Given the description of an element on the screen output the (x, y) to click on. 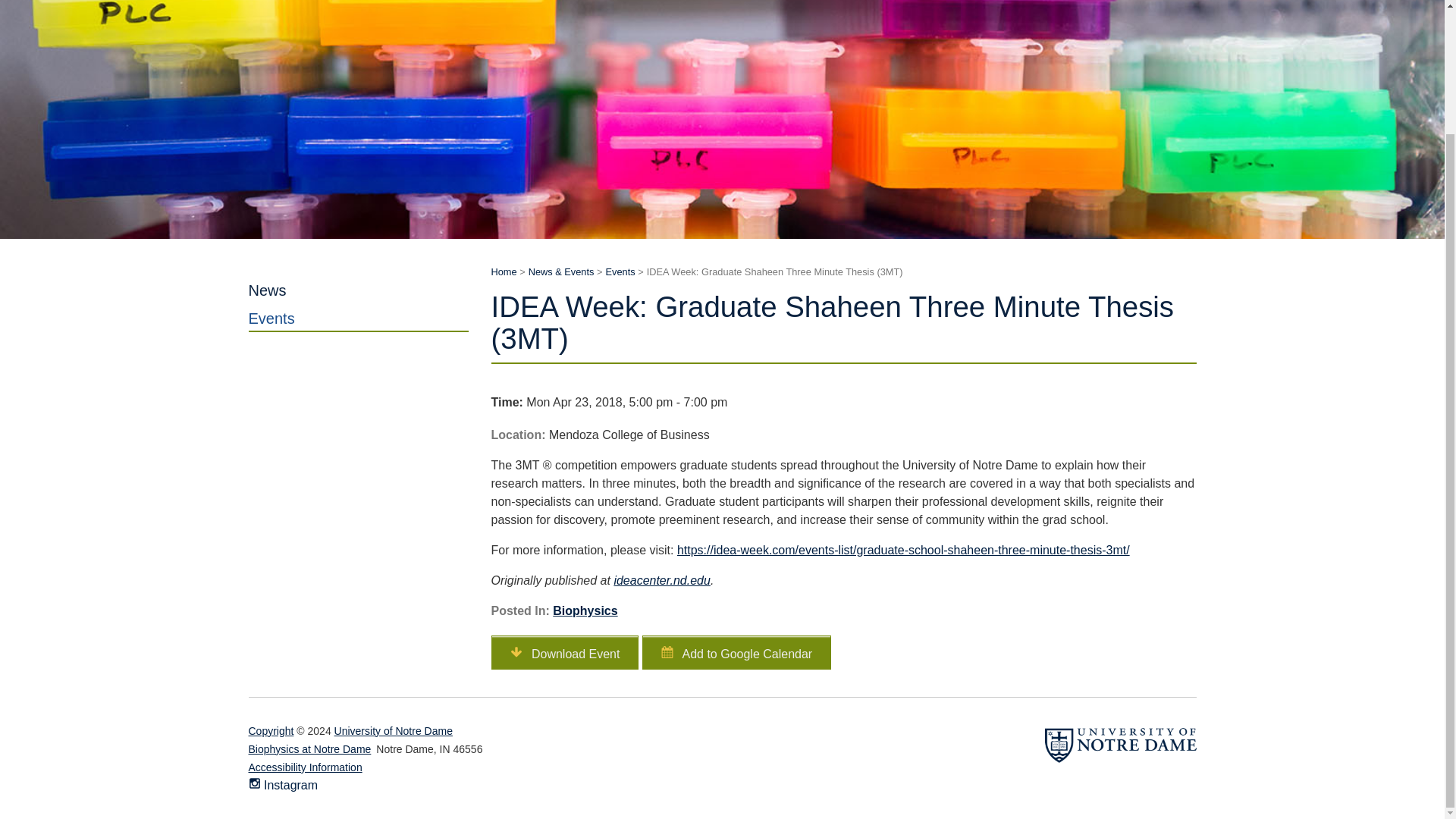
Biophysics at Notre Dame (309, 749)
Mon Apr 23, 2018  5:00 pm -  7:00 pm (844, 402)
Add to Google Calendar (736, 652)
Indiana (444, 748)
Home (504, 271)
Copyright (271, 730)
Accessibility Information (305, 767)
Instagram (283, 784)
ideacenter.nd.edu (661, 580)
Events (358, 319)
News (358, 290)
Download Event (565, 652)
Biophysics (585, 610)
Events (619, 271)
University of Notre Dame (393, 730)
